Given the description of an element on the screen output the (x, y) to click on. 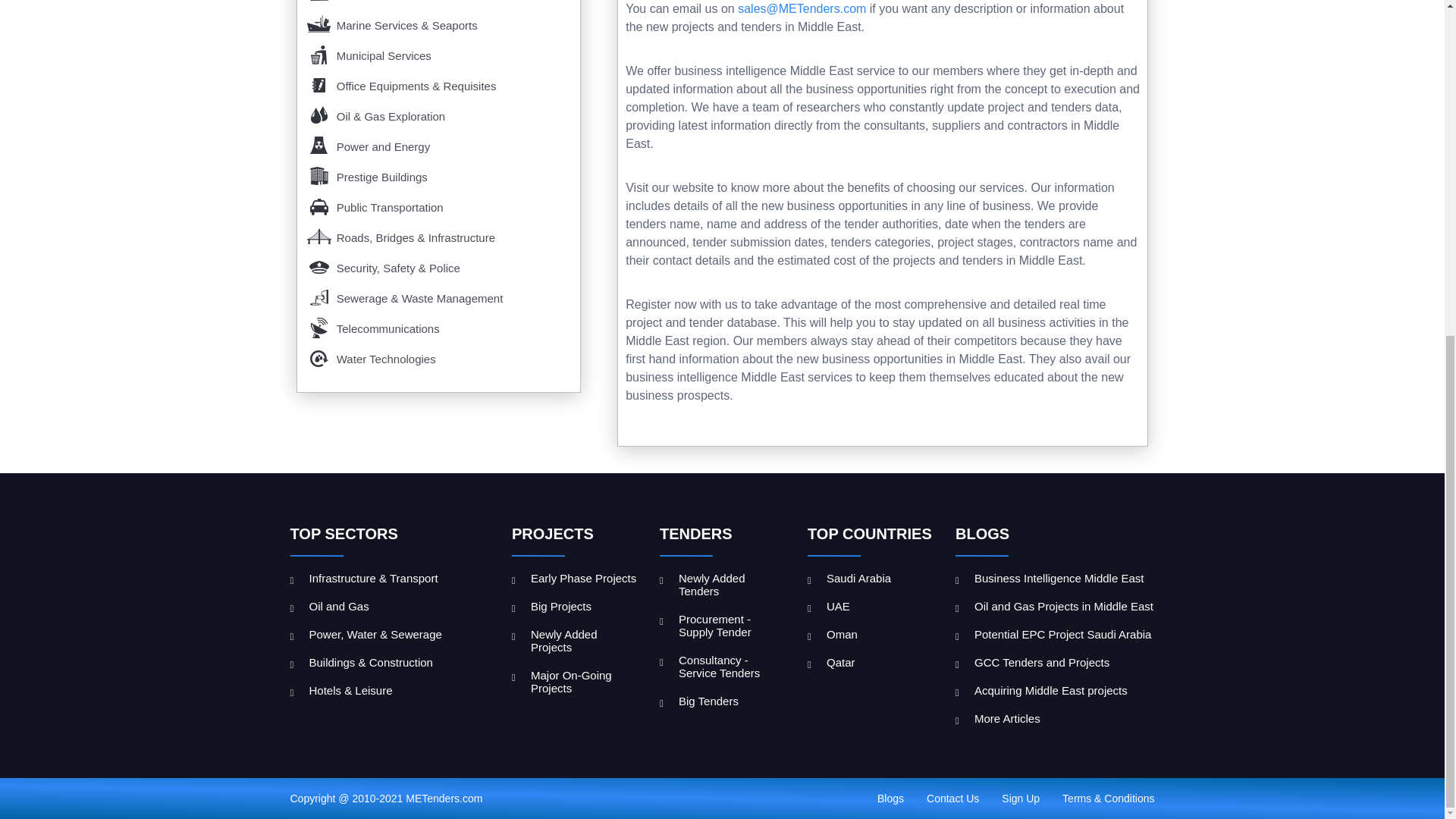
Municipal Services (438, 52)
Telecommunications (438, 325)
Oil and Gas (389, 605)
Water Technologies (438, 355)
Prestige Buildings (438, 173)
Public Transportation (438, 203)
Power and Energy (438, 143)
